Given the description of an element on the screen output the (x, y) to click on. 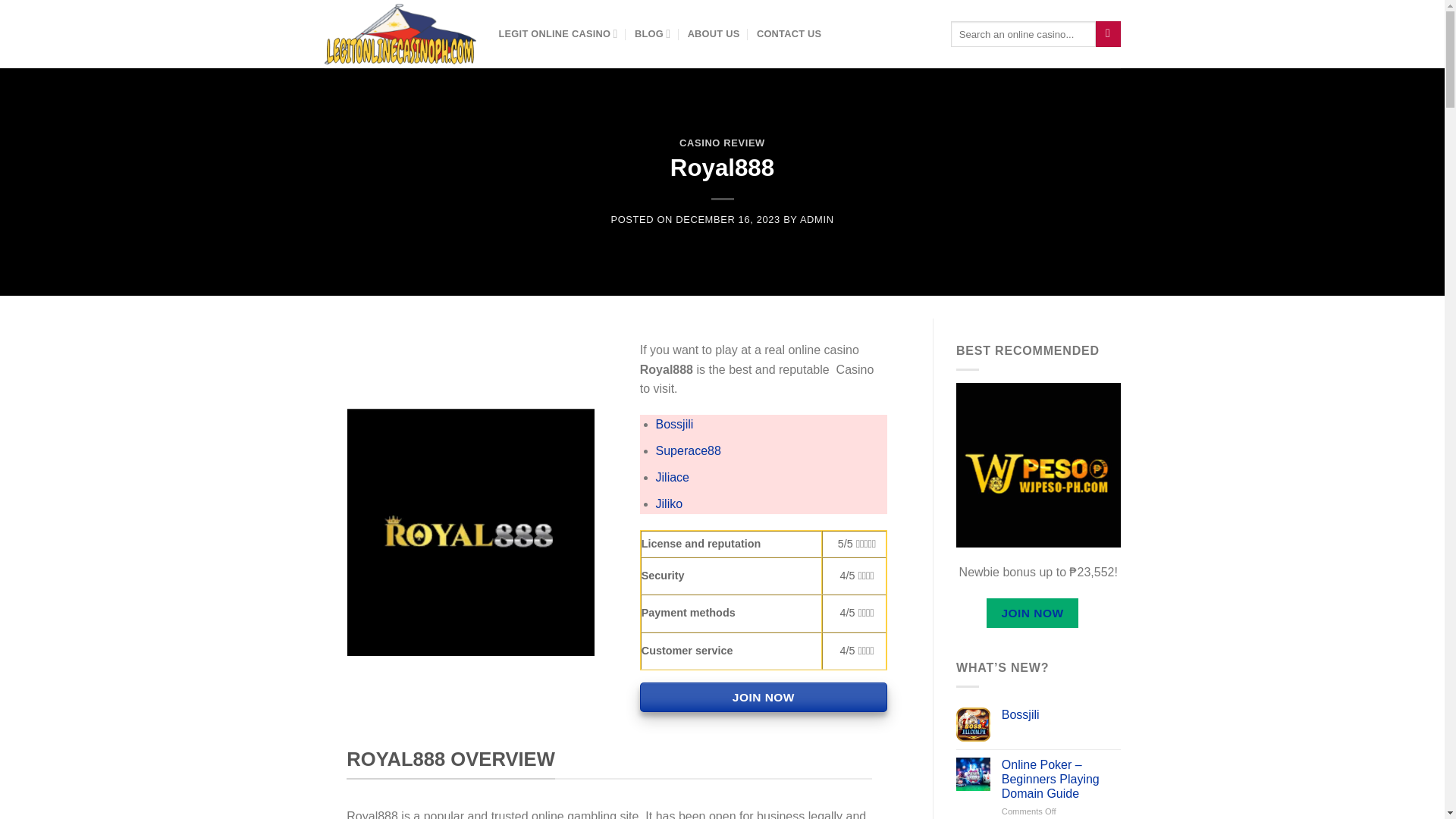
Bossjili (1061, 714)
Jiliko (669, 503)
JOIN NOW (763, 696)
Superace88 (688, 450)
LEGIT ONLINE CASINO (558, 33)
BLOG (651, 33)
Jiliace (672, 477)
Bossjili (675, 423)
Jiliace (672, 477)
